Given the description of an element on the screen output the (x, y) to click on. 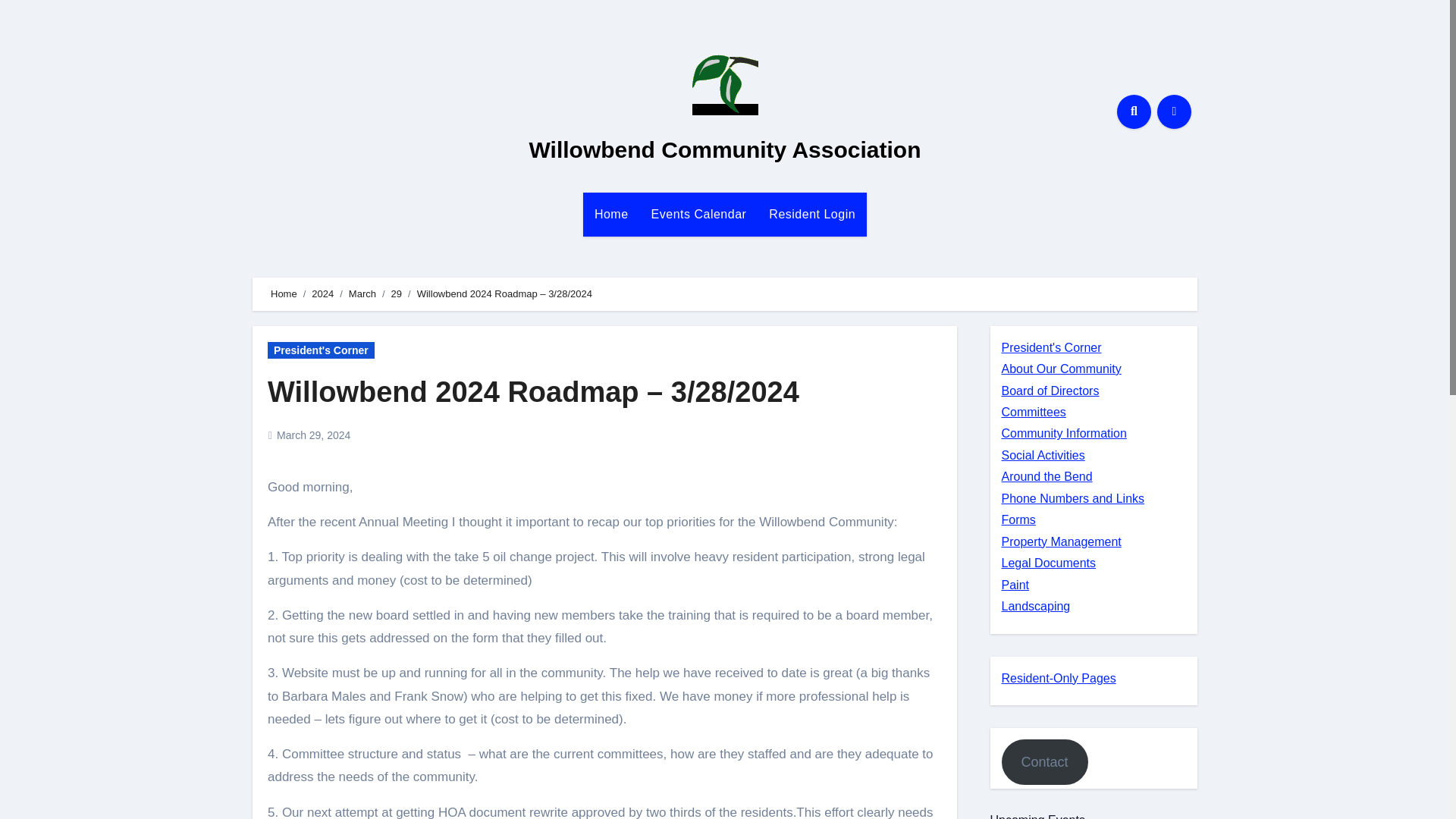
Events Calendar (699, 214)
29 (396, 293)
Resident Login (811, 214)
2024 (322, 293)
March (362, 293)
President's Corner (320, 350)
March 29, 2024 (313, 435)
Home (611, 214)
Events Calendar (699, 214)
Willowbend Community Association (725, 149)
Resident Login (811, 214)
Home (611, 214)
Home (283, 293)
